Given the description of an element on the screen output the (x, y) to click on. 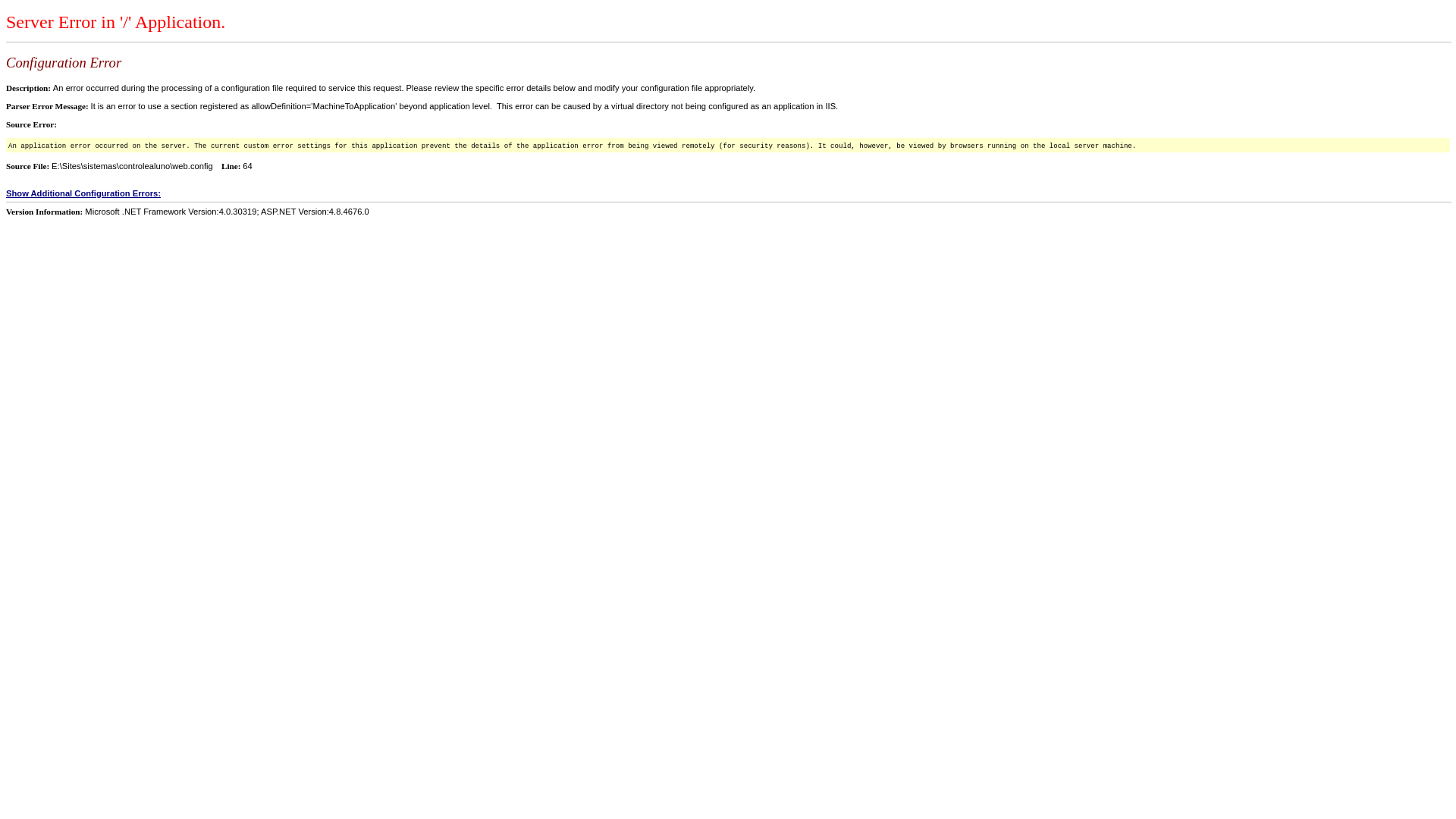
Show Additional Configuration Errors: Element type: text (727, 192)
